Given the description of an element on the screen output the (x, y) to click on. 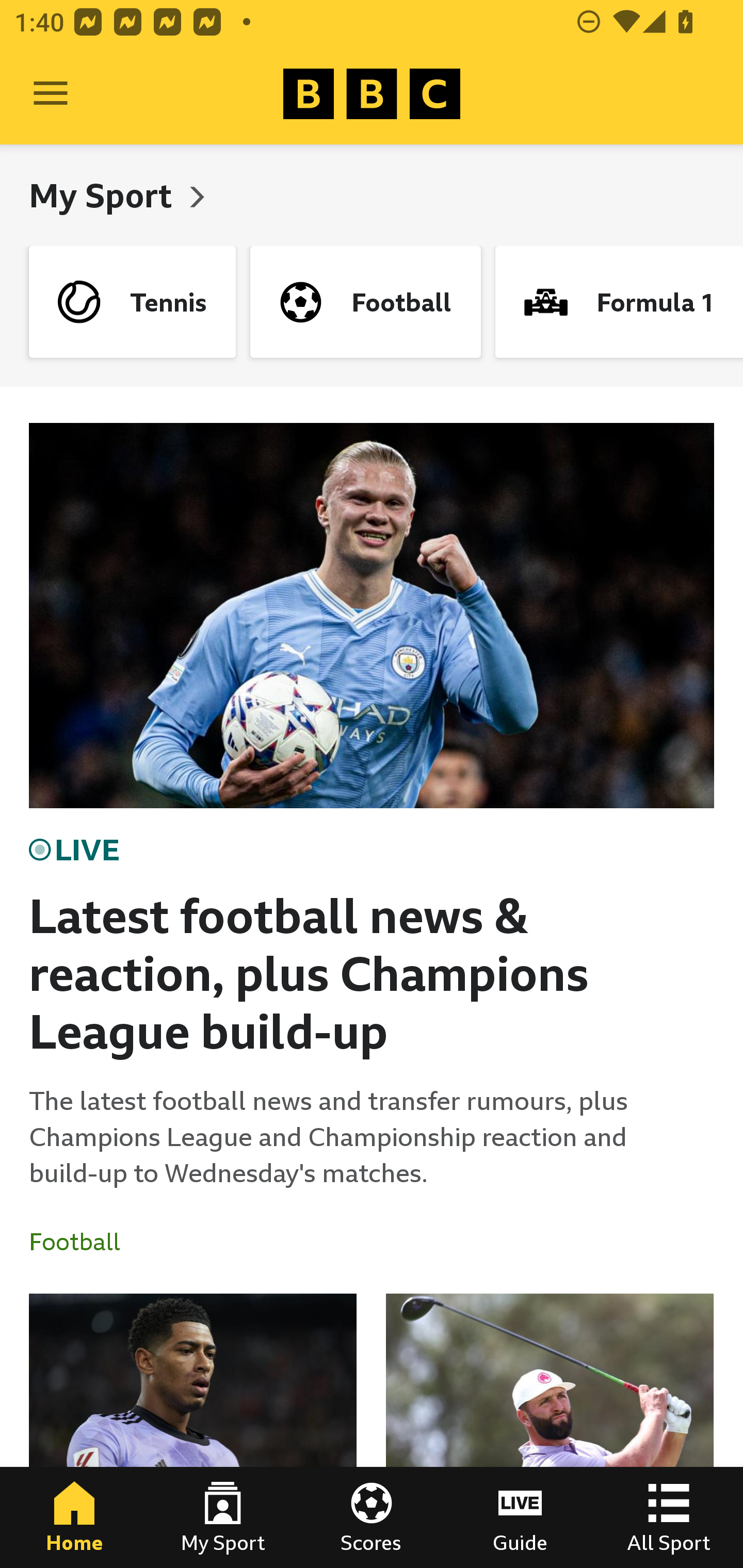
Open Menu (50, 93)
My Sport (104, 195)
Football In the section Football (81, 1241)
Real midfielder Bellingham banned for two games (192, 1430)
My Sport (222, 1517)
Scores (371, 1517)
Guide (519, 1517)
All Sport (668, 1517)
